Given the description of an element on the screen output the (x, y) to click on. 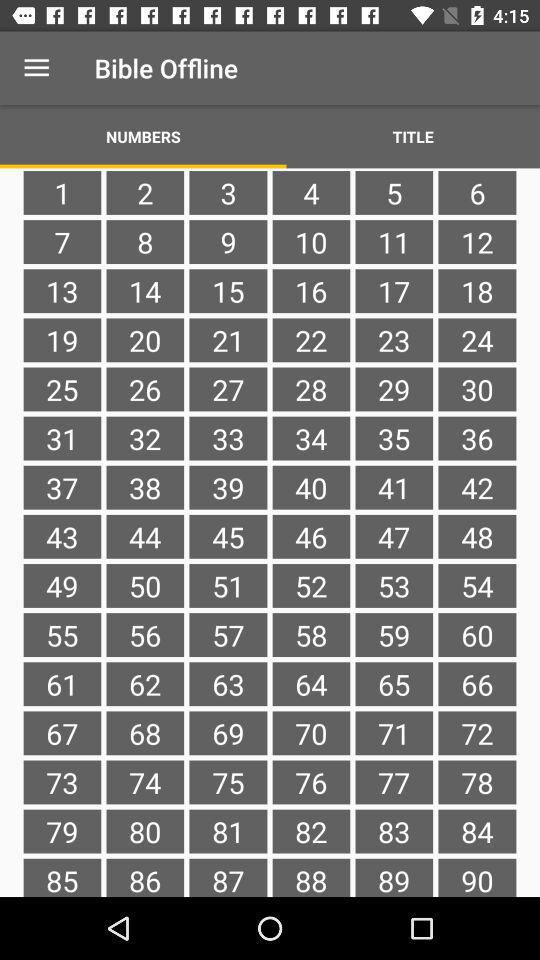
choose the icon next to the 22 item (228, 389)
